Given the description of an element on the screen output the (x, y) to click on. 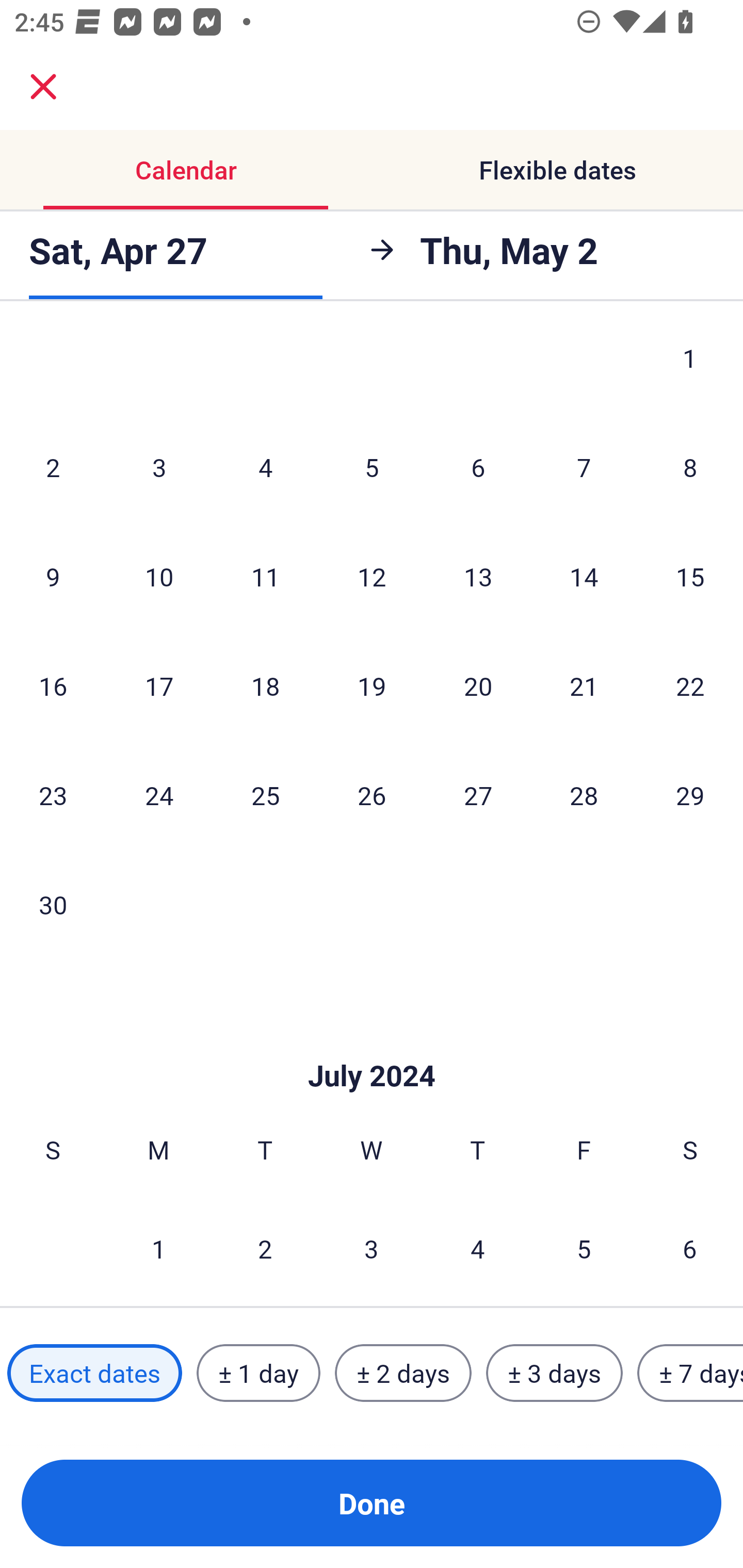
close. (43, 86)
Flexible dates (557, 170)
1 Saturday, June 1, 2024 (689, 370)
2 Sunday, June 2, 2024 (53, 466)
3 Monday, June 3, 2024 (159, 466)
4 Tuesday, June 4, 2024 (265, 466)
5 Wednesday, June 5, 2024 (371, 466)
6 Thursday, June 6, 2024 (477, 466)
7 Friday, June 7, 2024 (584, 466)
8 Saturday, June 8, 2024 (690, 466)
9 Sunday, June 9, 2024 (53, 575)
10 Monday, June 10, 2024 (159, 575)
11 Tuesday, June 11, 2024 (265, 575)
12 Wednesday, June 12, 2024 (371, 575)
13 Thursday, June 13, 2024 (477, 575)
14 Friday, June 14, 2024 (584, 575)
15 Saturday, June 15, 2024 (690, 575)
16 Sunday, June 16, 2024 (53, 685)
17 Monday, June 17, 2024 (159, 685)
18 Tuesday, June 18, 2024 (265, 685)
19 Wednesday, June 19, 2024 (371, 685)
20 Thursday, June 20, 2024 (477, 685)
21 Friday, June 21, 2024 (584, 685)
22 Saturday, June 22, 2024 (690, 685)
23 Sunday, June 23, 2024 (53, 794)
24 Monday, June 24, 2024 (159, 794)
25 Tuesday, June 25, 2024 (265, 794)
26 Wednesday, June 26, 2024 (371, 794)
27 Thursday, June 27, 2024 (477, 794)
28 Friday, June 28, 2024 (584, 794)
29 Saturday, June 29, 2024 (690, 794)
30 Sunday, June 30, 2024 (53, 904)
Skip to Done (371, 1044)
1 Monday, July 1, 2024 (158, 1247)
2 Tuesday, July 2, 2024 (264, 1247)
3 Wednesday, July 3, 2024 (371, 1247)
4 Thursday, July 4, 2024 (477, 1247)
5 Friday, July 5, 2024 (583, 1247)
6 Saturday, July 6, 2024 (689, 1247)
Exact dates (94, 1372)
± 1 day (258, 1372)
± 2 days (403, 1372)
± 3 days (553, 1372)
± 7 days (690, 1372)
Done (371, 1502)
